Given the description of an element on the screen output the (x, y) to click on. 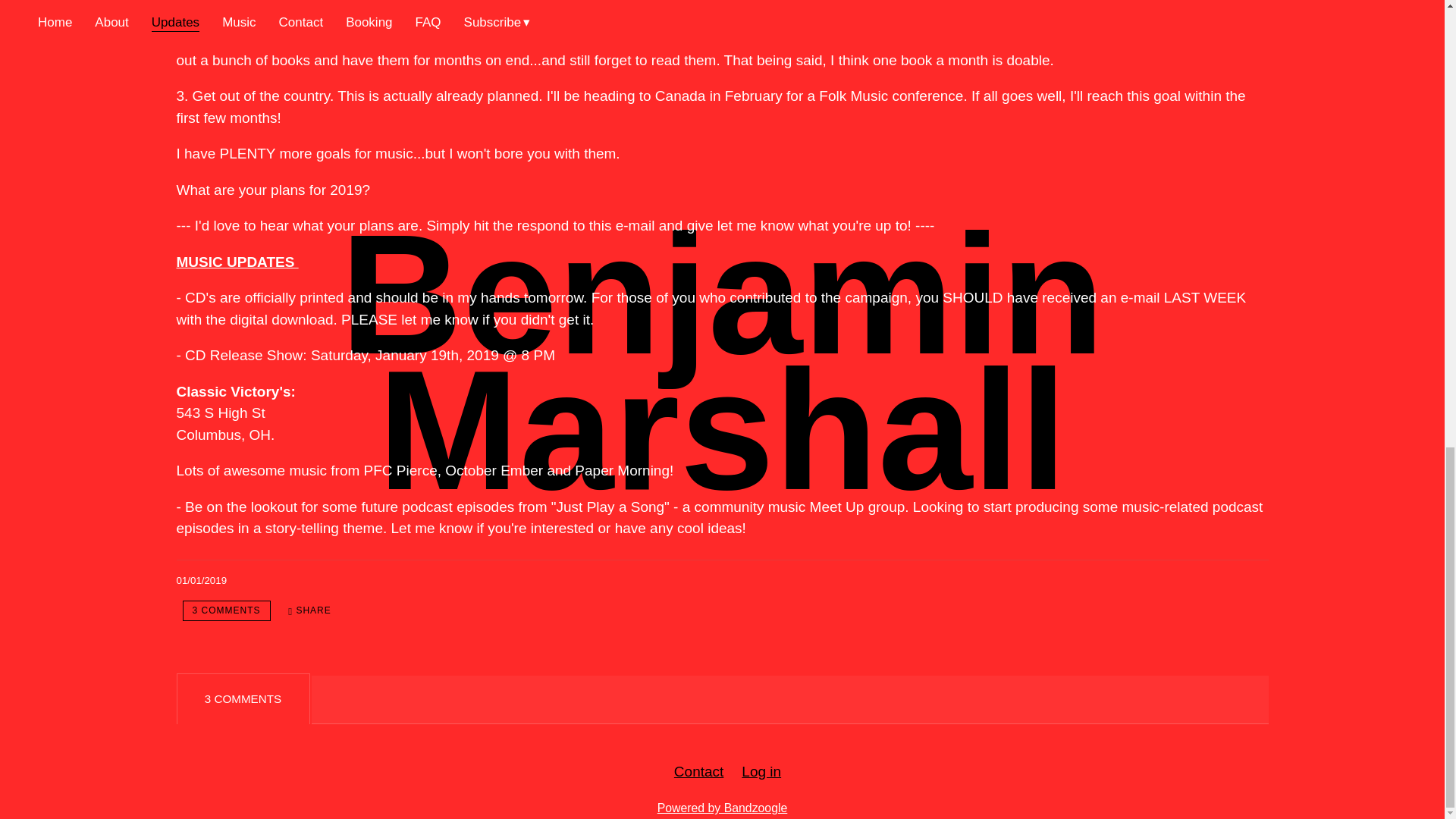
Powered by Bandzoogle (722, 807)
Powered by Bandzoogle (722, 807)
3 comments (225, 610)
SHARE (309, 610)
Contact (698, 771)
3 COMMENTS (225, 610)
January 01, 2019 23:10 (201, 580)
Share 2019: I Thought it was 2007 Still (309, 610)
Log in (760, 771)
